Given the description of an element on the screen output the (x, y) to click on. 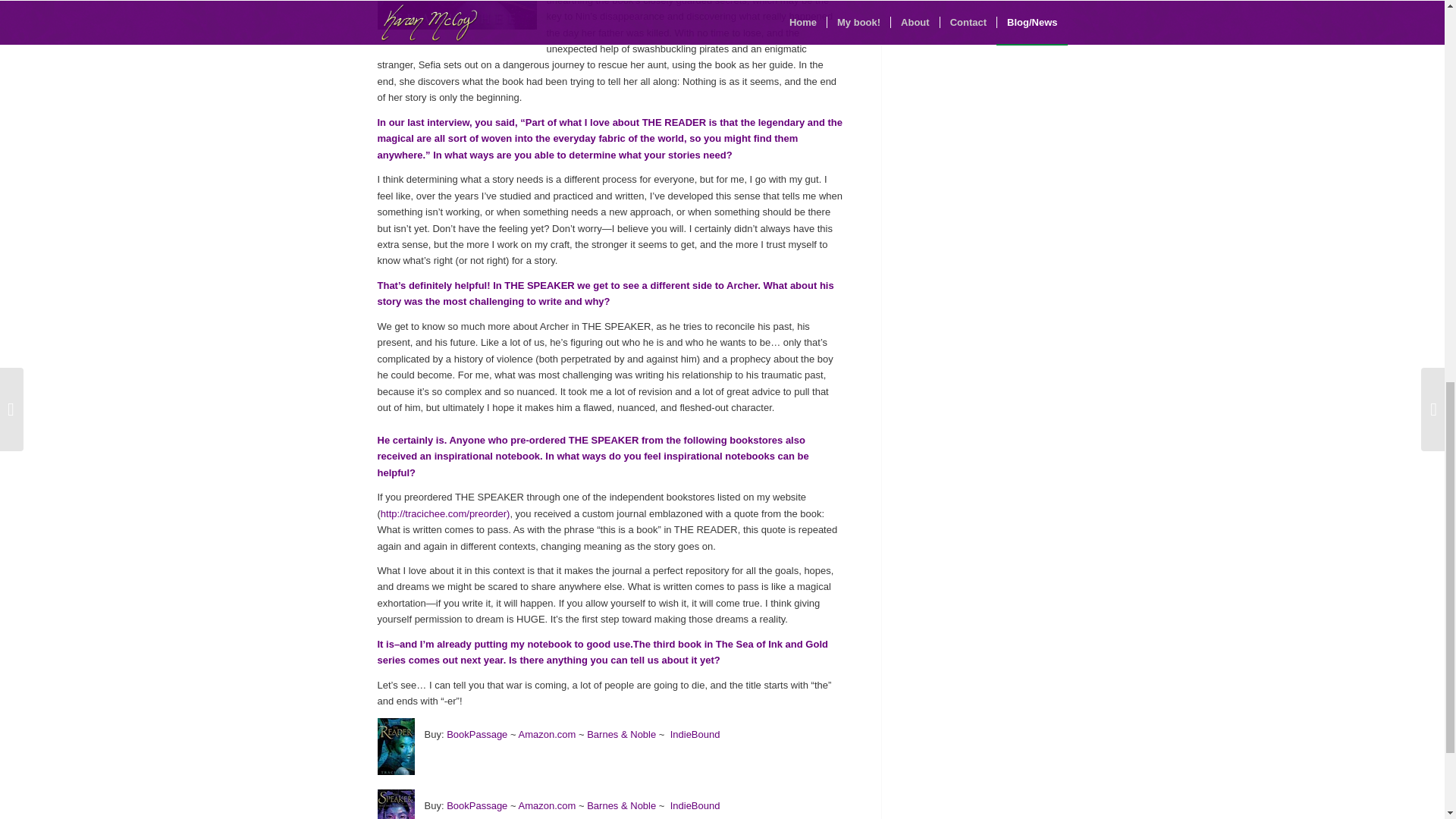
IndieBound (694, 734)
Amazon.com  (548, 805)
BookPassage (476, 805)
IndieBound (694, 805)
Amazon.com  (548, 734)
from the following bookstores (714, 439)
BookPassage (476, 734)
